Given the description of an element on the screen output the (x, y) to click on. 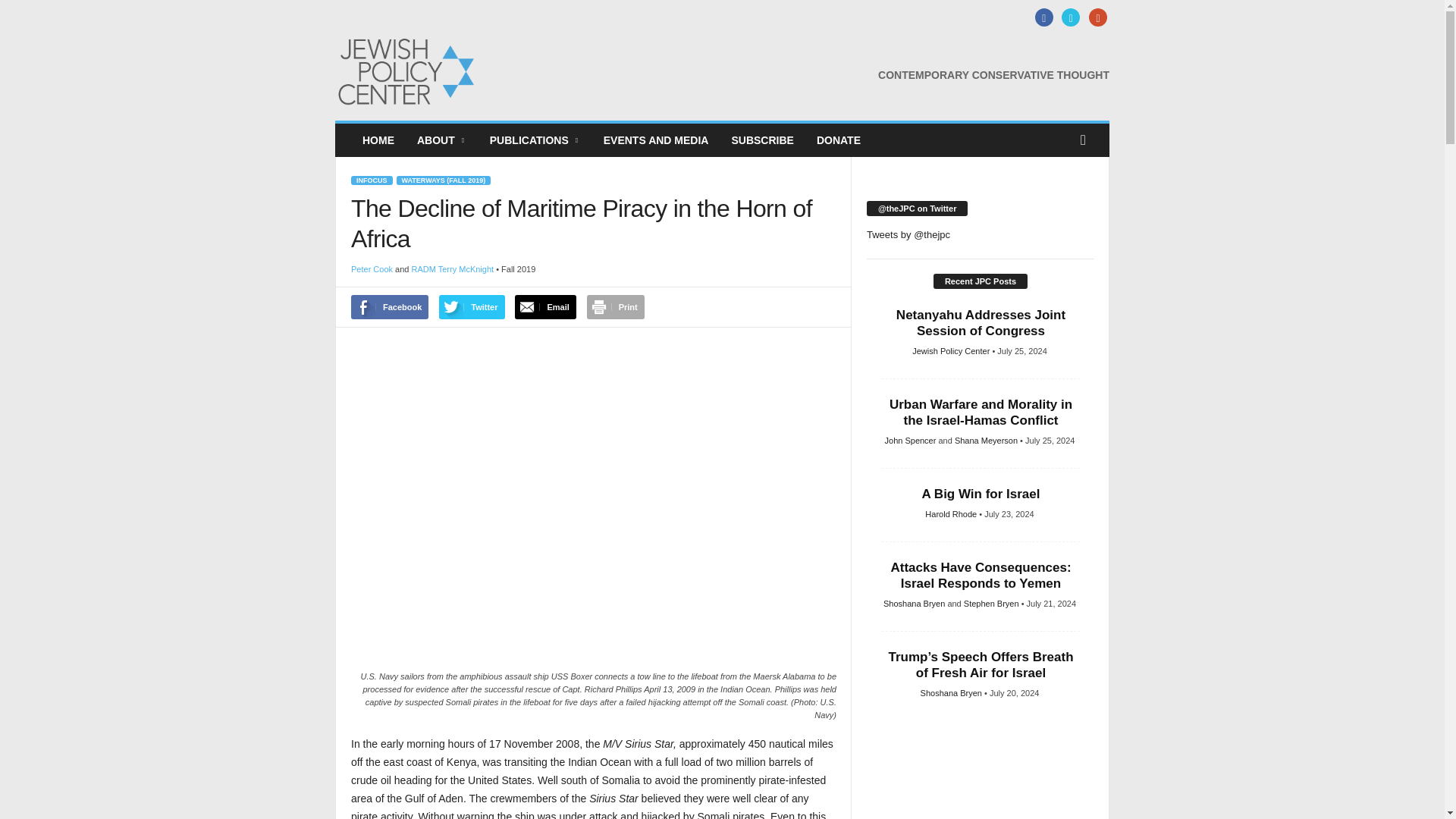
SUBSCRIBE (762, 140)
Facebook (1041, 18)
HOME (378, 140)
EVENTS AND MEDIA (656, 140)
Jewish Policy Center (437, 70)
ABOUT (442, 140)
Youtube (1095, 18)
PUBLICATIONS (535, 140)
DONATE (838, 140)
Twitter (1069, 18)
